Given the description of an element on the screen output the (x, y) to click on. 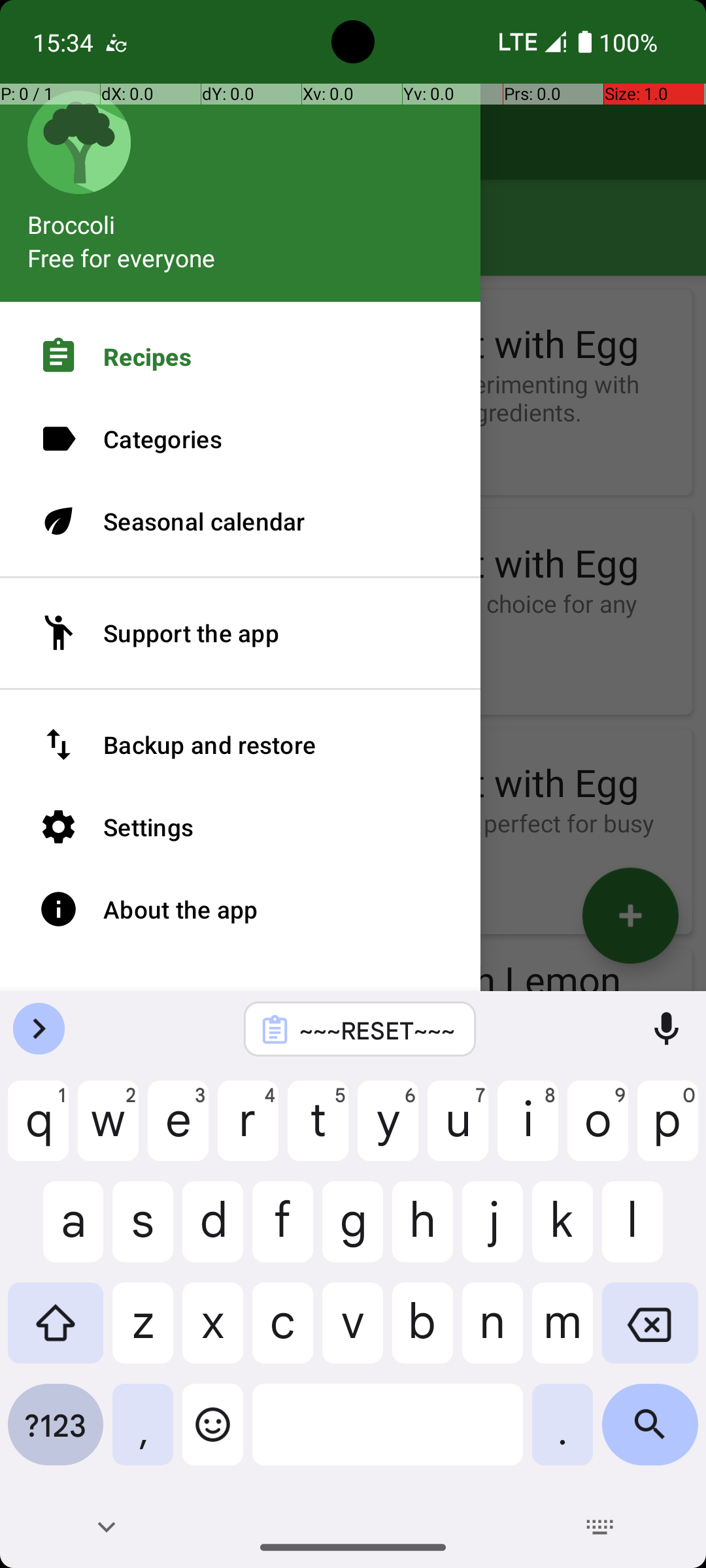
Free for everyone Element type: android.widget.TextView (121, 257)
Seasonal calendar Element type: android.widget.CheckedTextView (239, 521)
Support the app Element type: android.widget.CheckedTextView (239, 632)
Backup and restore Element type: android.widget.CheckedTextView (239, 744)
About the app Element type: android.widget.CheckedTextView (239, 909)
